Given the description of an element on the screen output the (x, y) to click on. 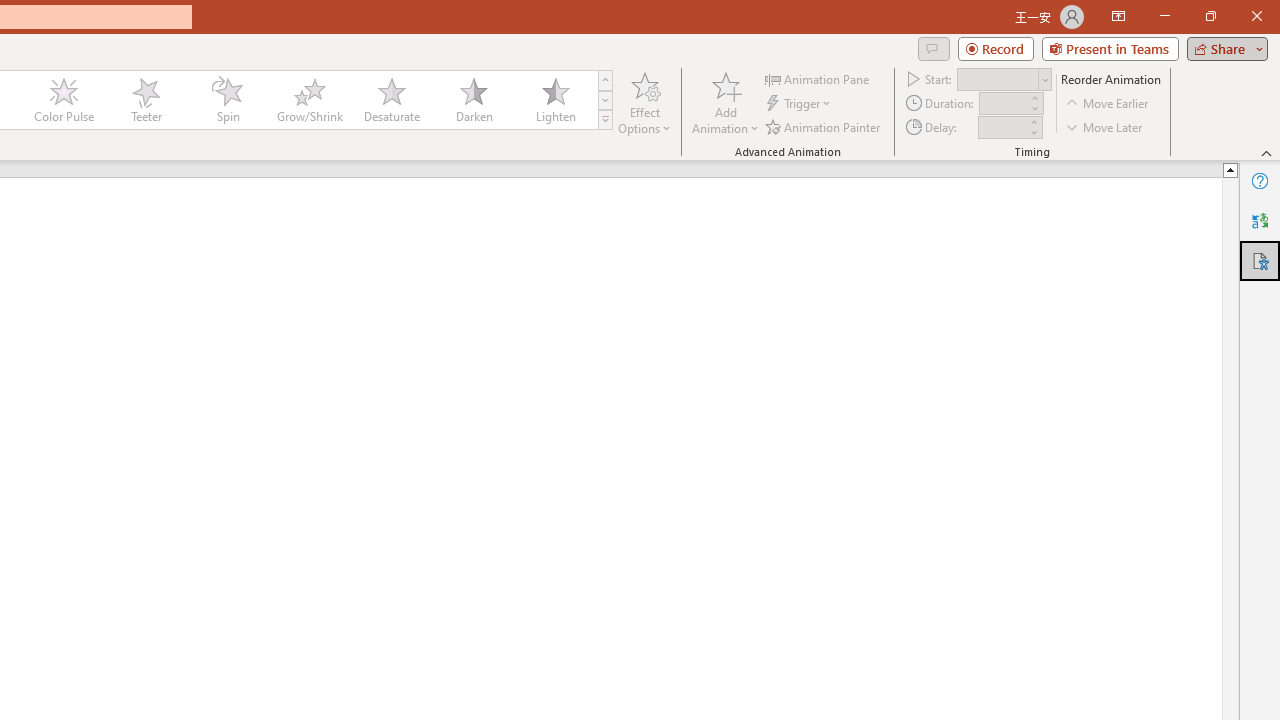
Add Animation (725, 102)
Grow/Shrink (309, 100)
Animation Delay (1002, 127)
Animation Painter (824, 126)
Animation Styles (605, 120)
Darken (473, 100)
Lighten (555, 100)
Move Later (1105, 126)
